Given the description of an element on the screen output the (x, y) to click on. 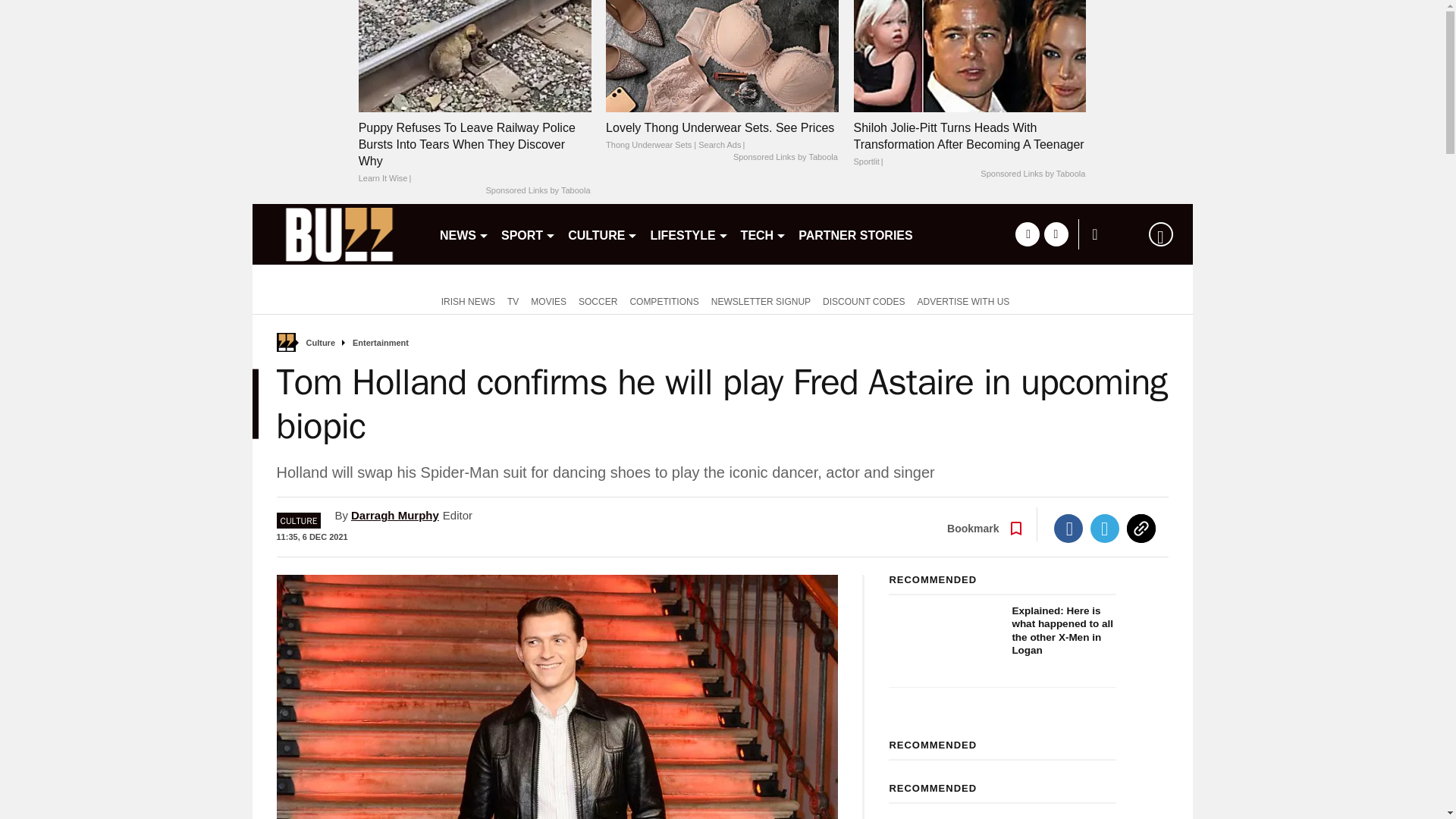
CULTURE (602, 233)
Lovely Thong Underwear Sets. See Prices (721, 136)
Sponsored Links by Taboola (536, 190)
SPORT (528, 233)
Twitter (1104, 528)
buzz (338, 233)
twitter (1055, 233)
facebook (1026, 233)
Facebook (1068, 528)
Sponsored Links by Taboola (785, 157)
NEWS (464, 233)
Sponsored Links by Taboola (1031, 174)
